Given the description of an element on the screen output the (x, y) to click on. 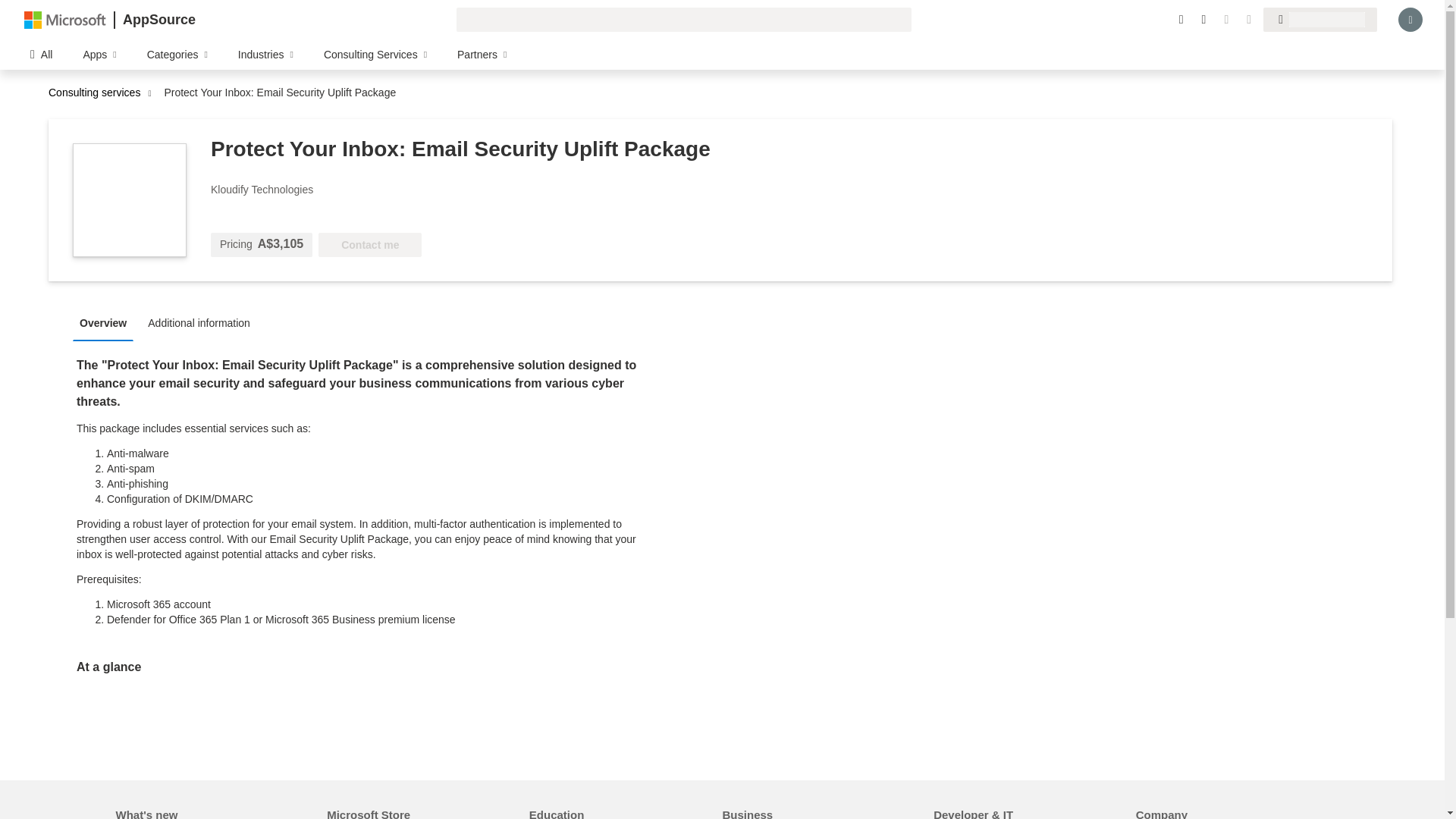
Consulting services (98, 92)
Overview (106, 322)
AppSource (158, 19)
Contact me (370, 244)
Additional information (202, 322)
Microsoft (65, 18)
